Given the description of an element on the screen output the (x, y) to click on. 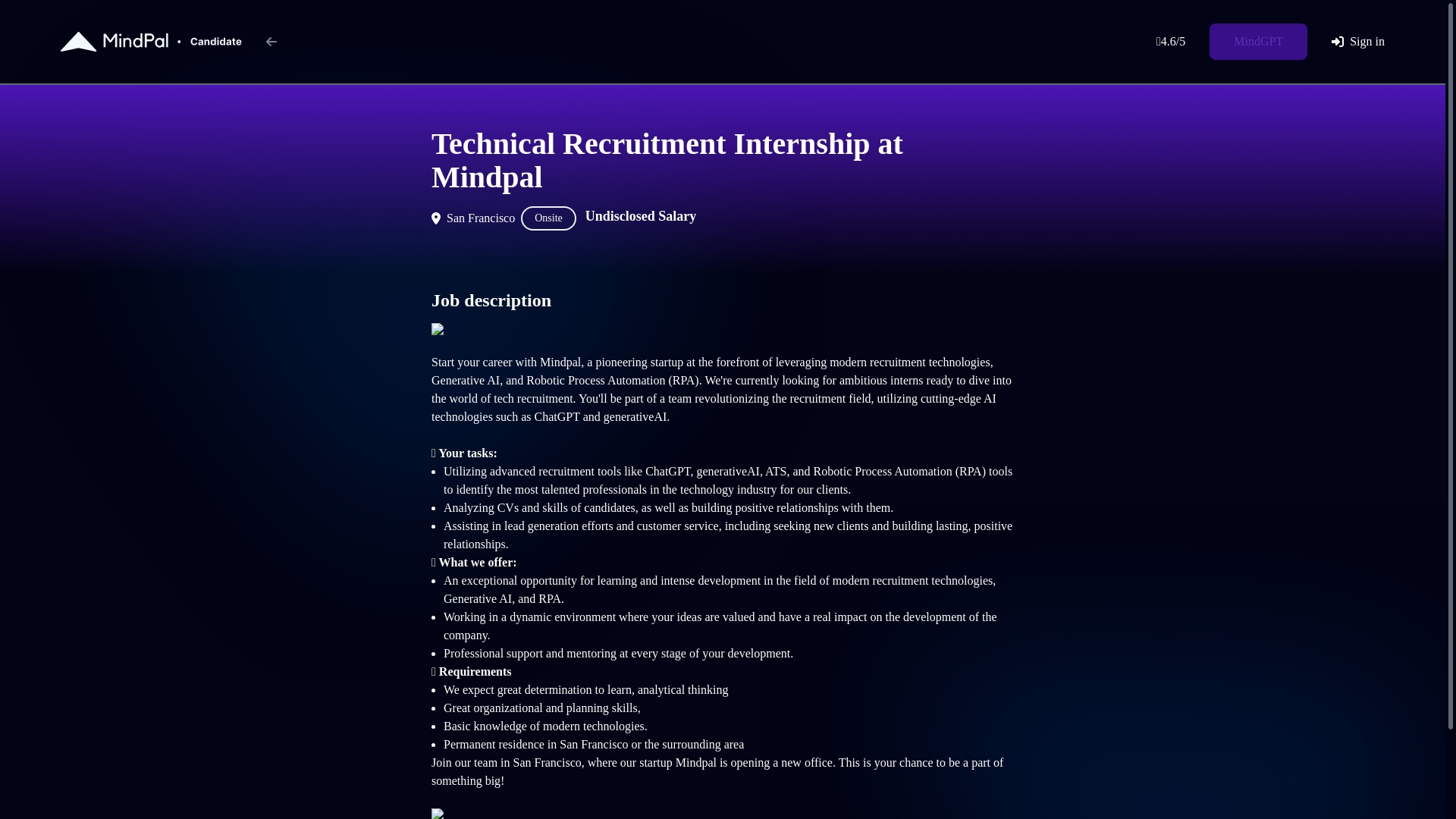
MindGPT (1258, 41)
Sign in (1358, 41)
